Given the description of an element on the screen output the (x, y) to click on. 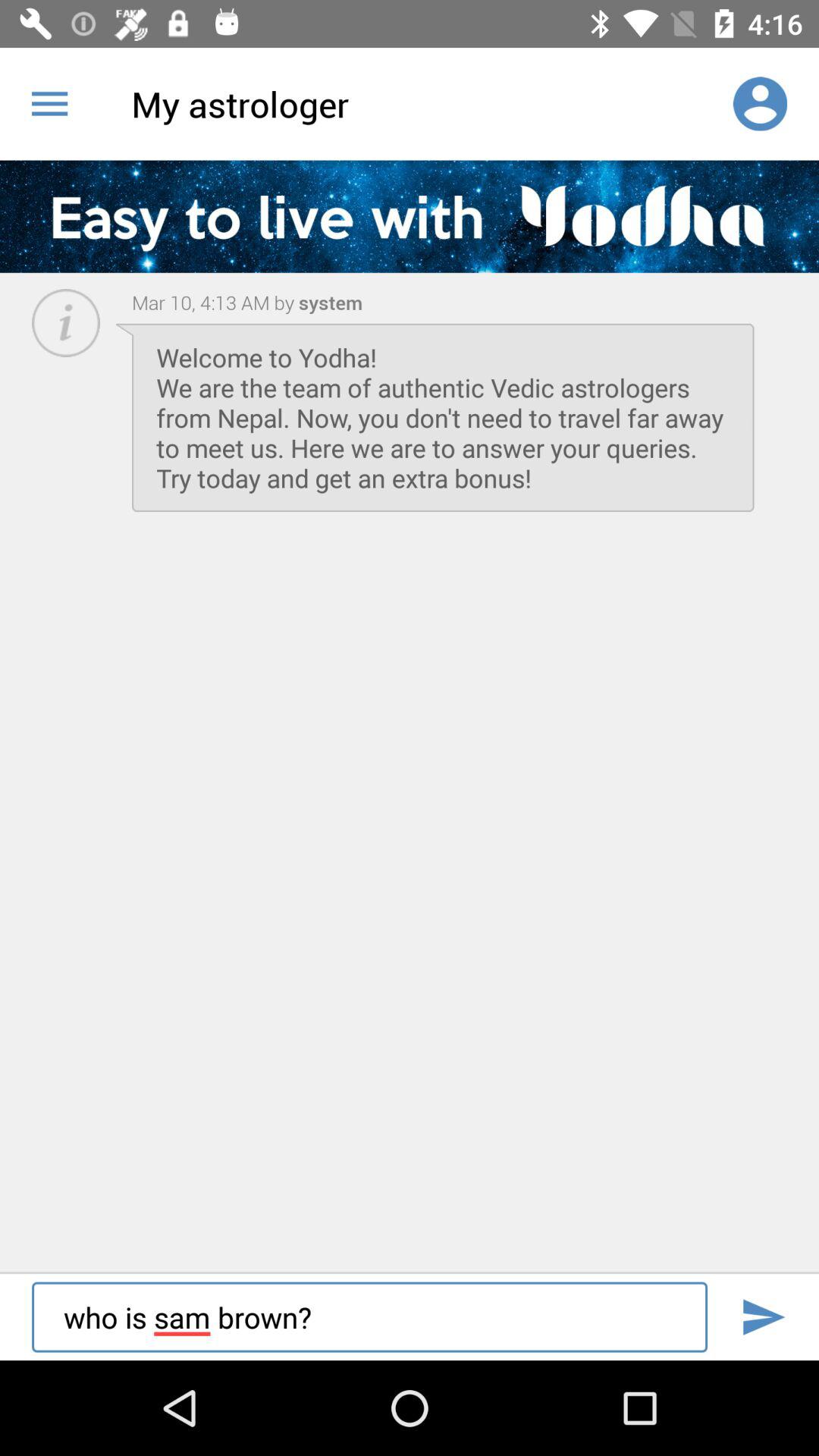
press icon to the left of system icon (212, 302)
